Given the description of an element on the screen output the (x, y) to click on. 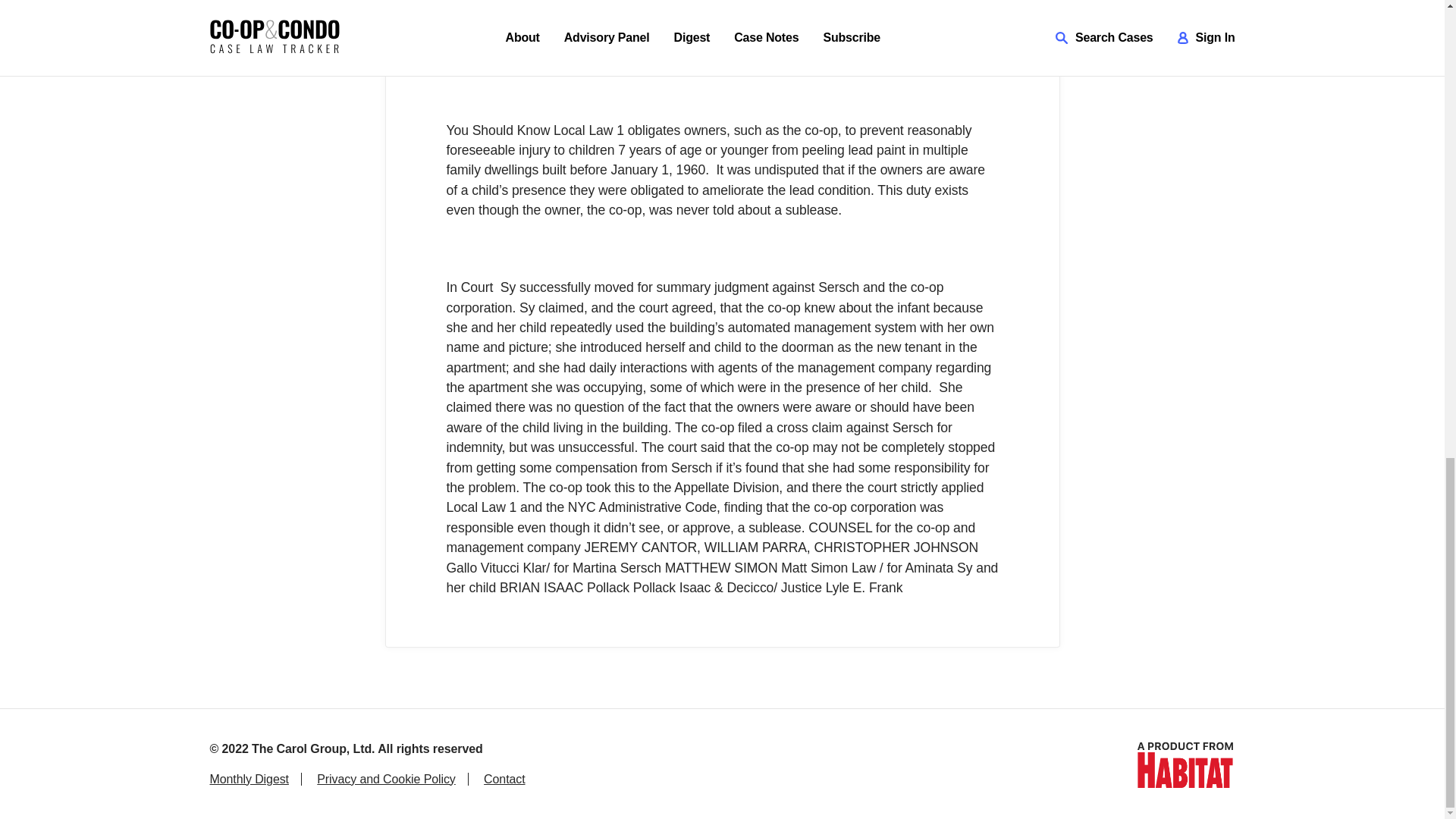
Privacy and Cookie Policy (385, 778)
Monthly Digest (248, 778)
Contact (503, 778)
